Given the description of an element on the screen output the (x, y) to click on. 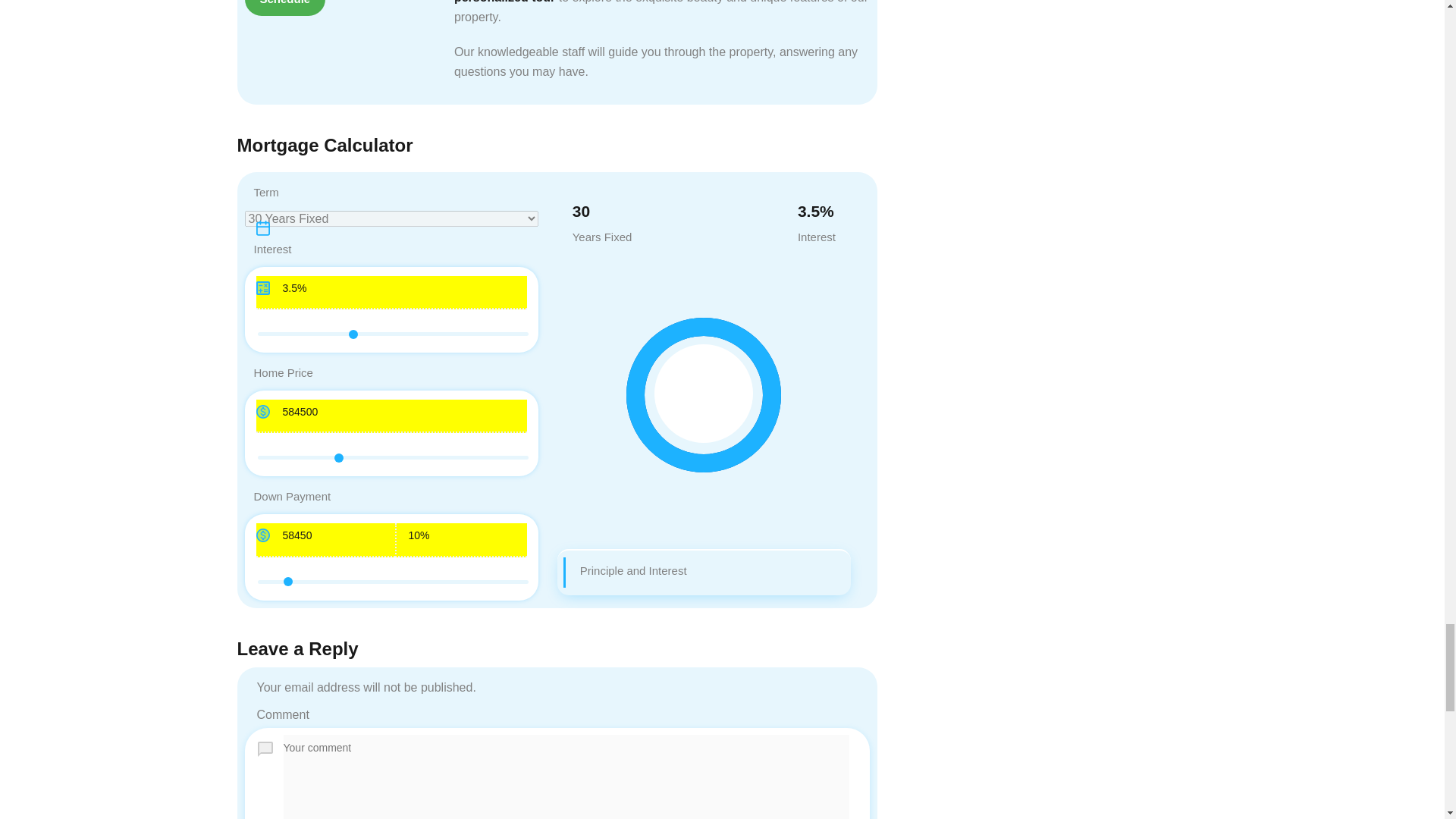
3.5 (392, 333)
584500 (391, 416)
584500 (392, 457)
10 (392, 581)
Schedule (284, 7)
58450 (326, 540)
